Given the description of an element on the screen output the (x, y) to click on. 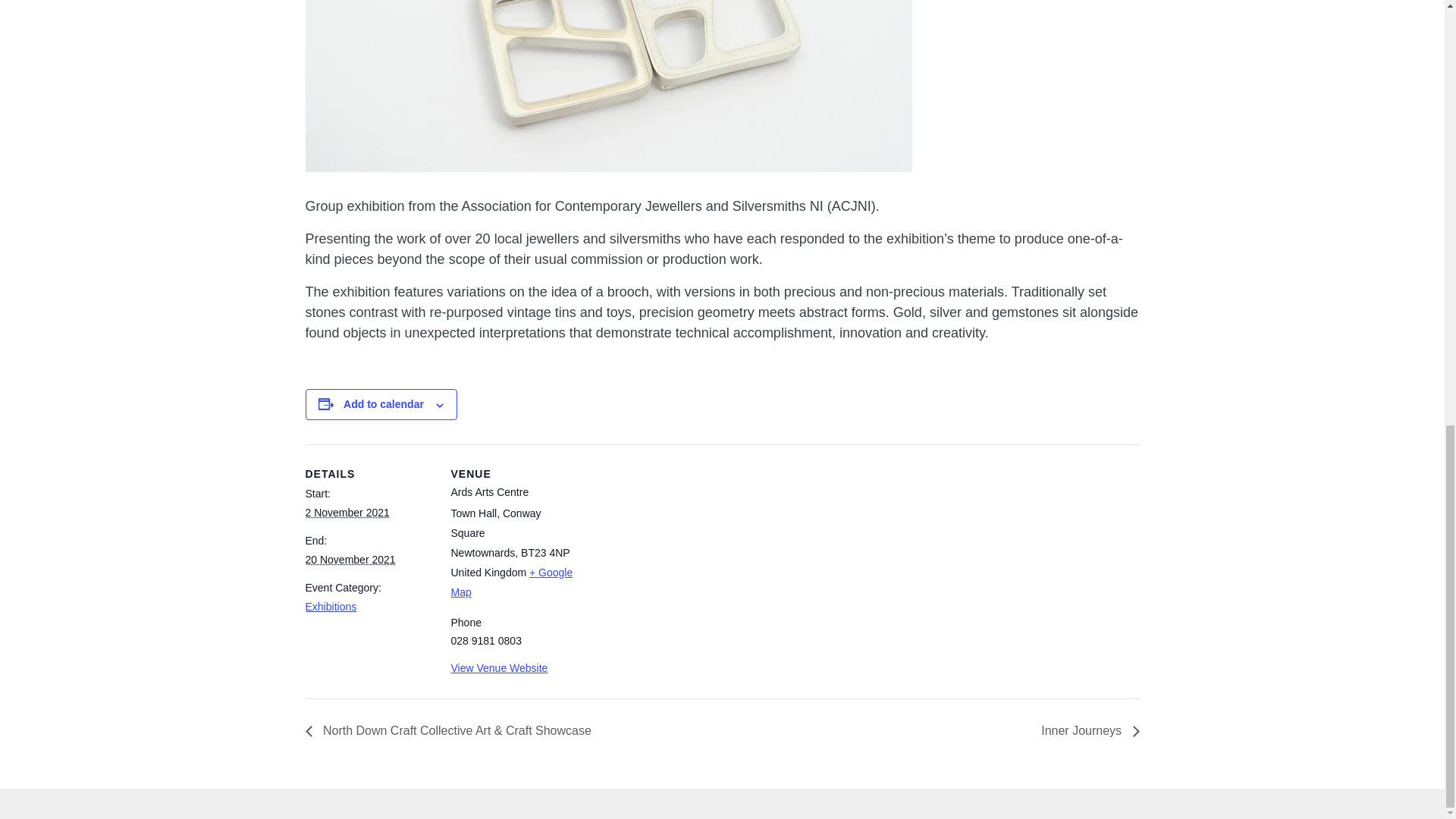
2021-11-02 (346, 512)
2021-11-20 (349, 559)
Click to view a Google Map (510, 582)
